Given the description of an element on the screen output the (x, y) to click on. 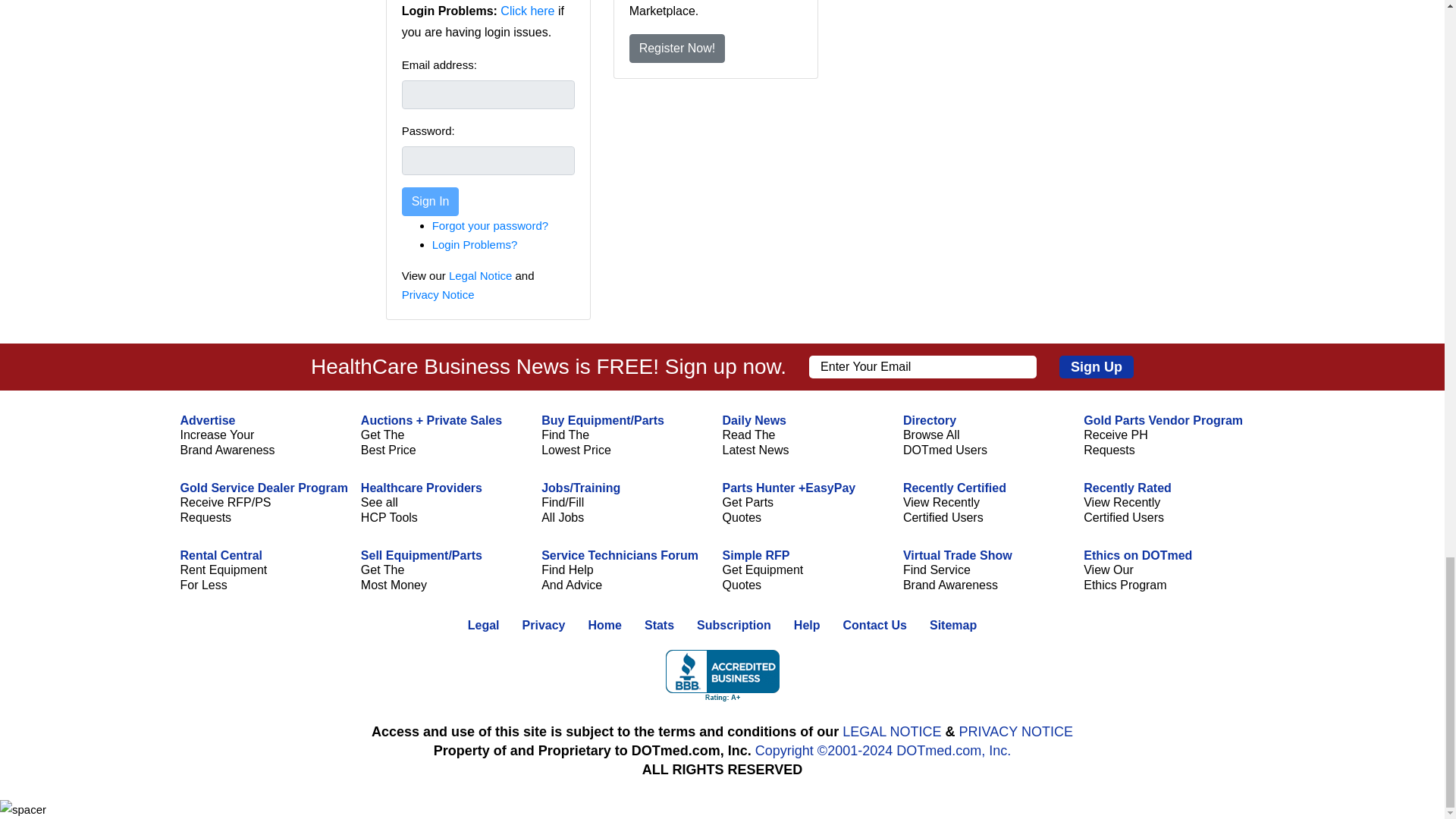
Sign In (430, 201)
Login Problems? (475, 244)
Forget your password? (490, 225)
Register Now! (676, 48)
